Given the description of an element on the screen output the (x, y) to click on. 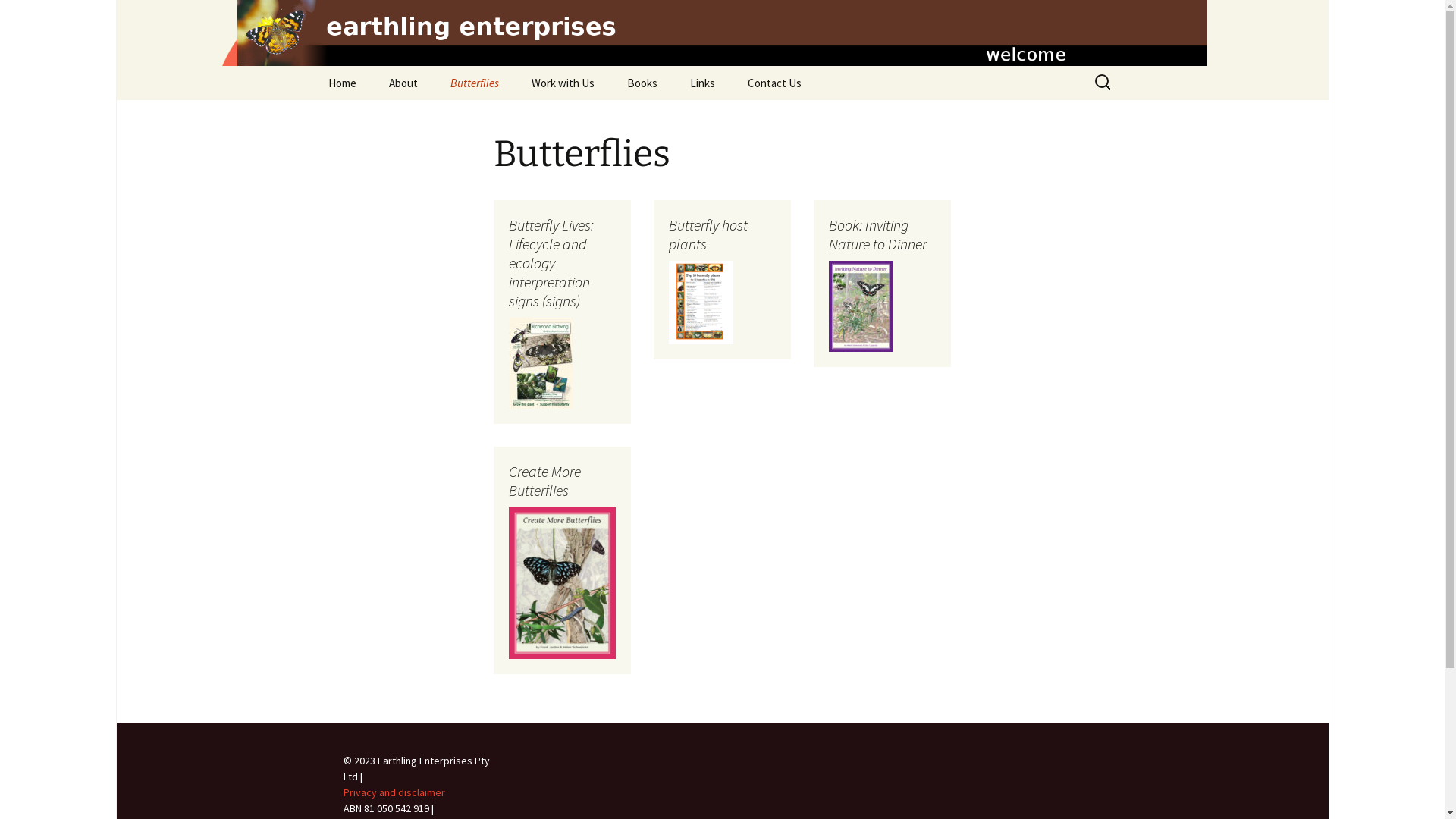
Butterfly Lives (signs) Element type: text (510, 117)
Home Element type: text (341, 82)
Work with Us Element type: text (561, 82)
Links Element type: text (702, 82)
Earthling Enterprises Element type: hover (722, 32)
Inviting Nature to Dinner Element type: text (686, 117)
Search Element type: text (18, 16)
Skip to content Element type: text (312, 65)
Privacy and disclaimer Element type: text (393, 792)
Butterflies Element type: text (474, 82)
Books Element type: text (641, 82)
About Element type: text (402, 82)
Contact Us Element type: text (774, 82)
